Given the description of an element on the screen output the (x, y) to click on. 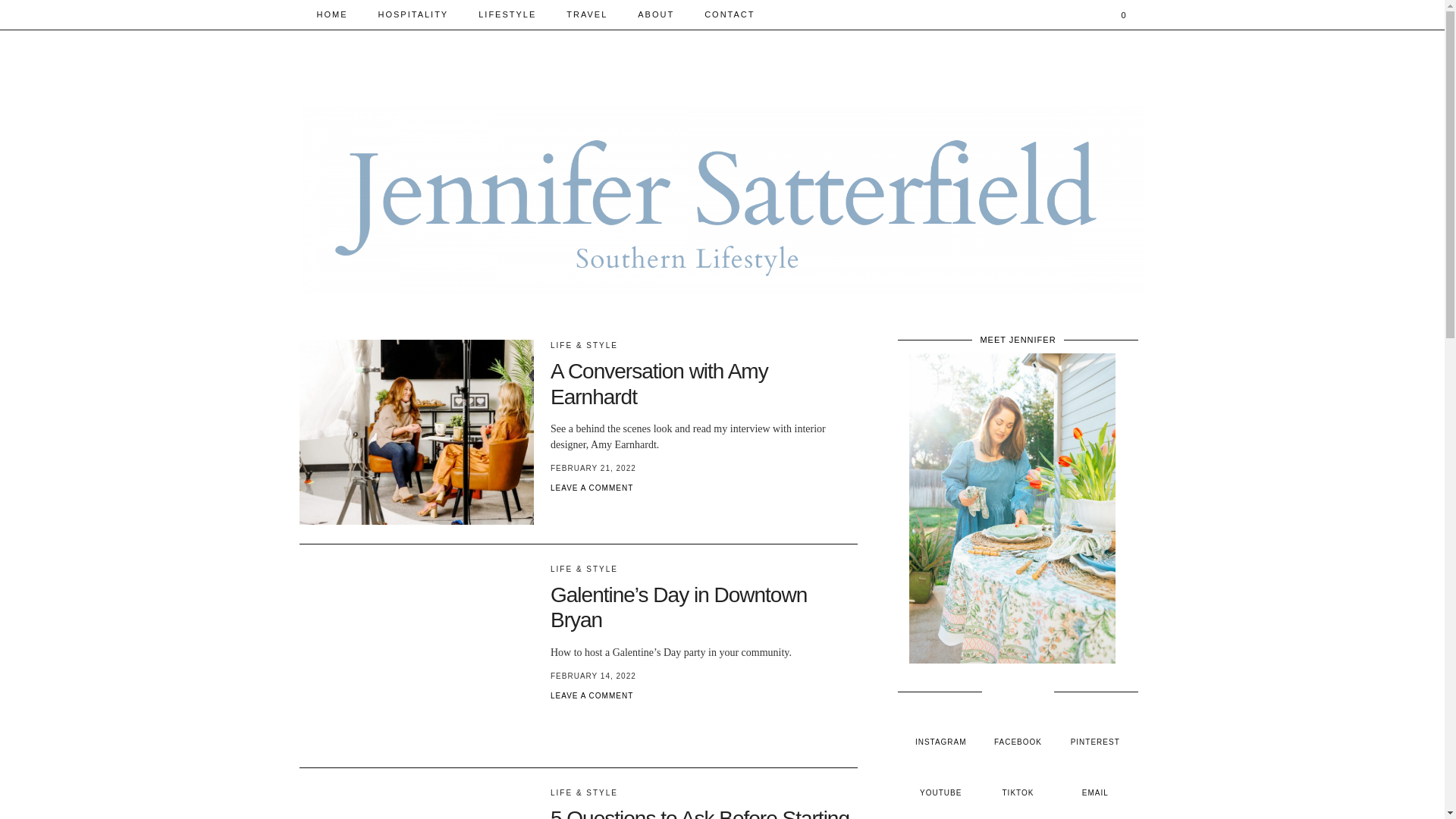
A Conversation with Amy Earnhardt (415, 431)
LEAVE A COMMENT (591, 488)
A Conversation with Amy Earnhardt (659, 383)
ABOUT (655, 14)
HOME (331, 14)
LEAVE A COMMENT (591, 695)
TRAVEL (587, 14)
